Given the description of an element on the screen output the (x, y) to click on. 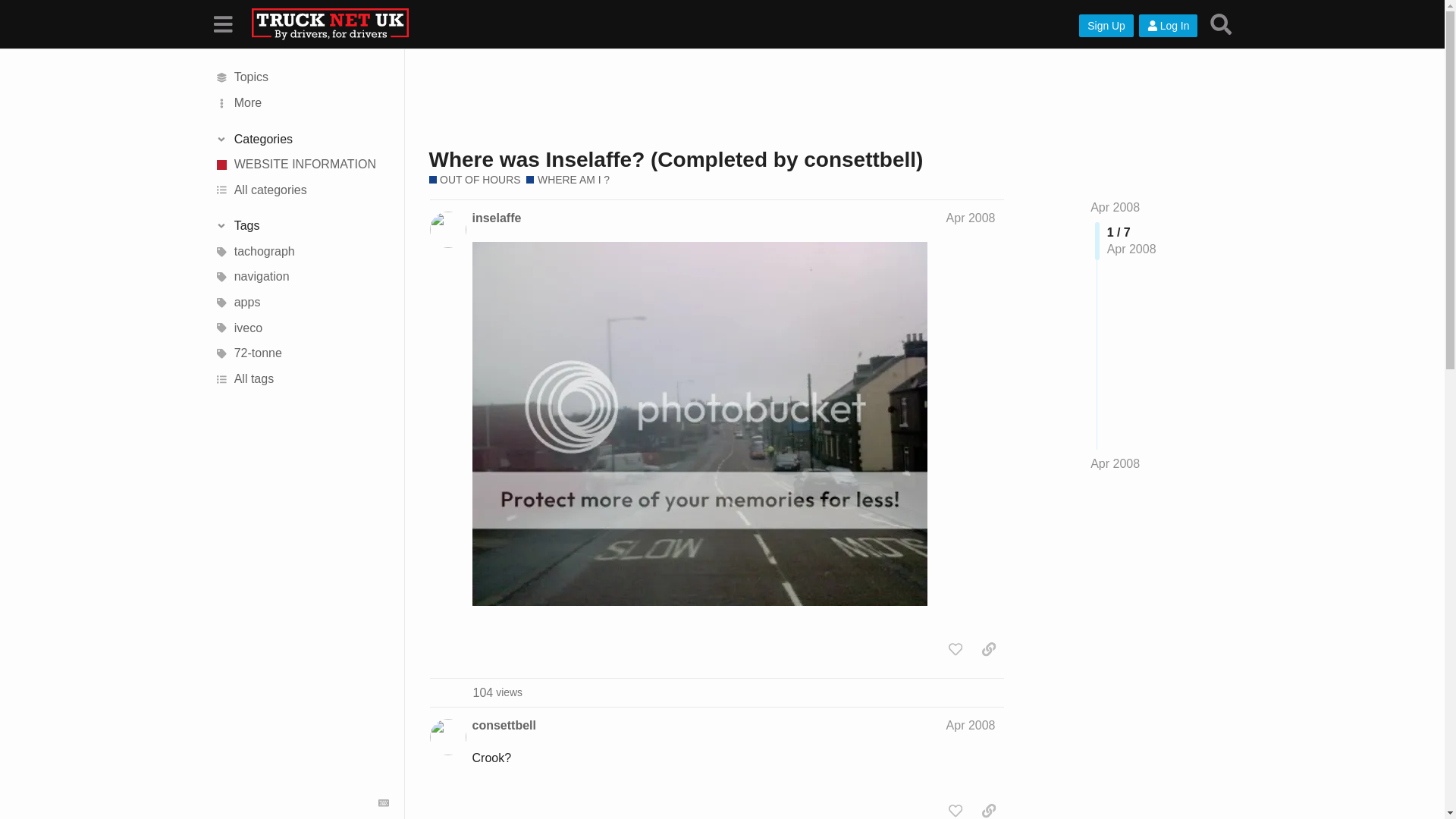
All categories (301, 190)
Jump to the first post (1115, 206)
72-tonne (301, 353)
All tags (301, 379)
More (301, 103)
OUT OF HOURS (475, 179)
consettbell (503, 725)
Search (496, 692)
Jump to the last post (1220, 23)
